Given the description of an element on the screen output the (x, y) to click on. 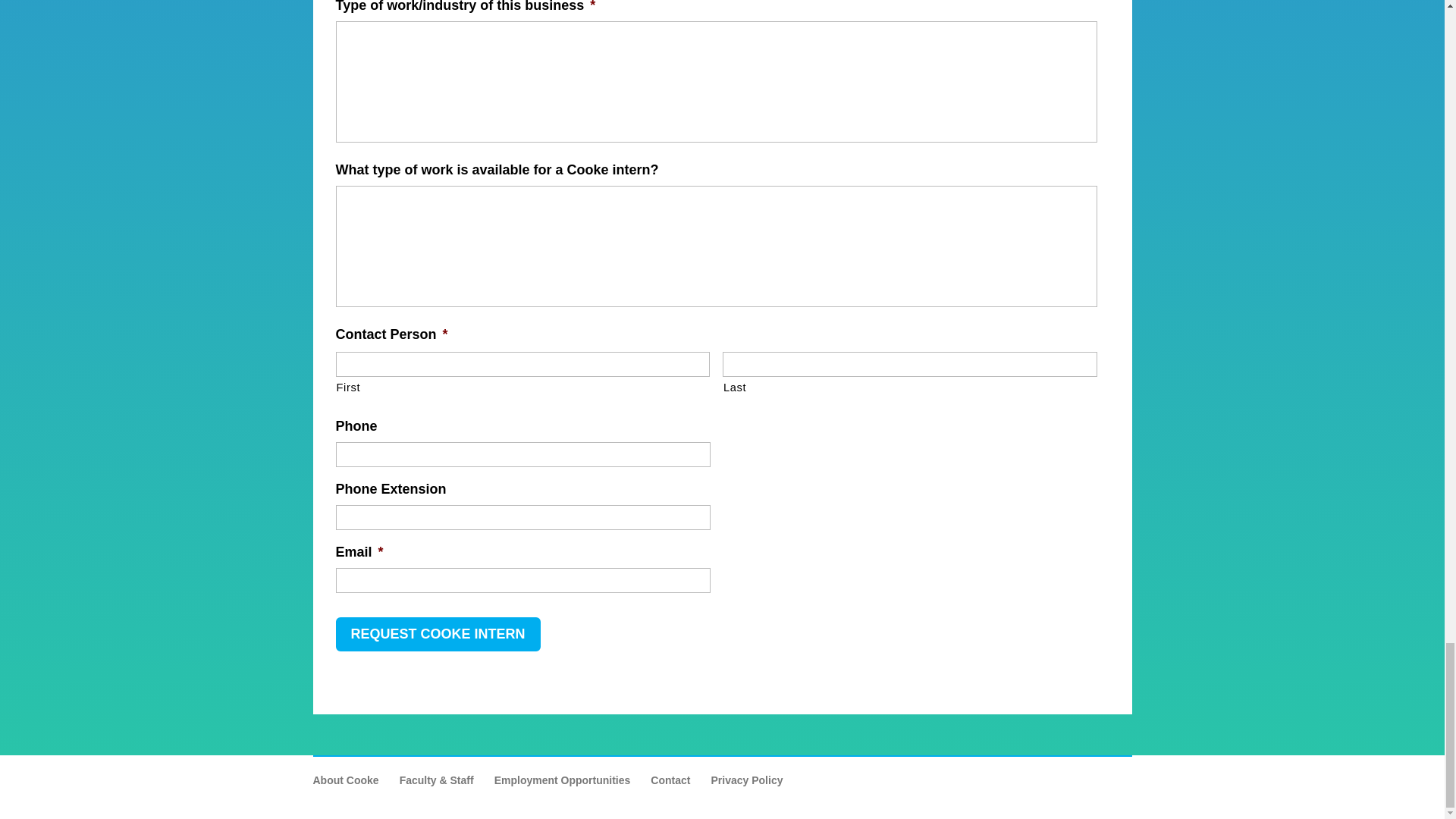
REQUEST COOKE INTERN (437, 634)
